Given the description of an element on the screen output the (x, y) to click on. 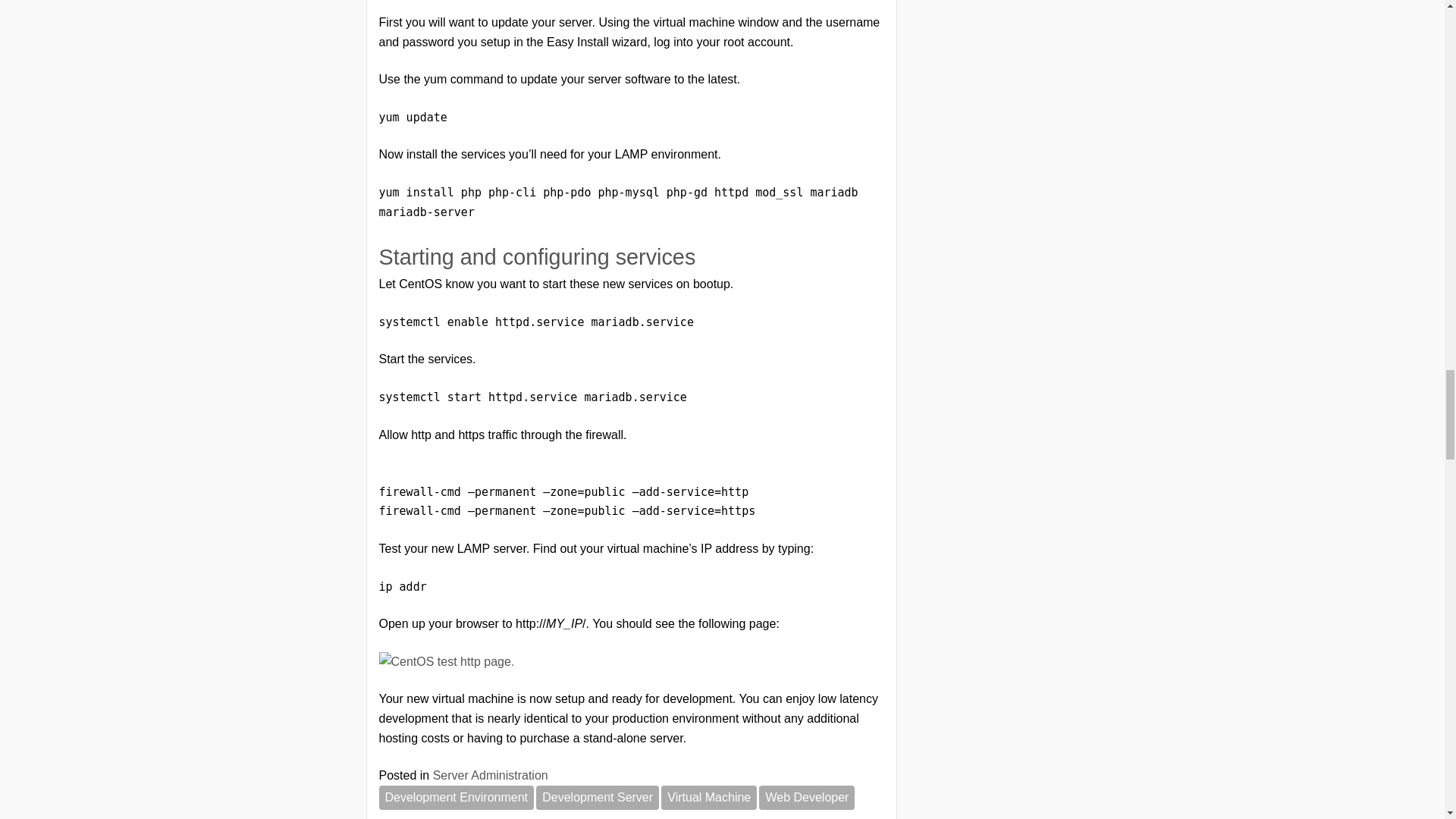
Server Administration (490, 775)
Development Environment (456, 797)
Web Developer (806, 797)
Development Server (597, 797)
Virtual Machine (709, 797)
